Given the description of an element on the screen output the (x, y) to click on. 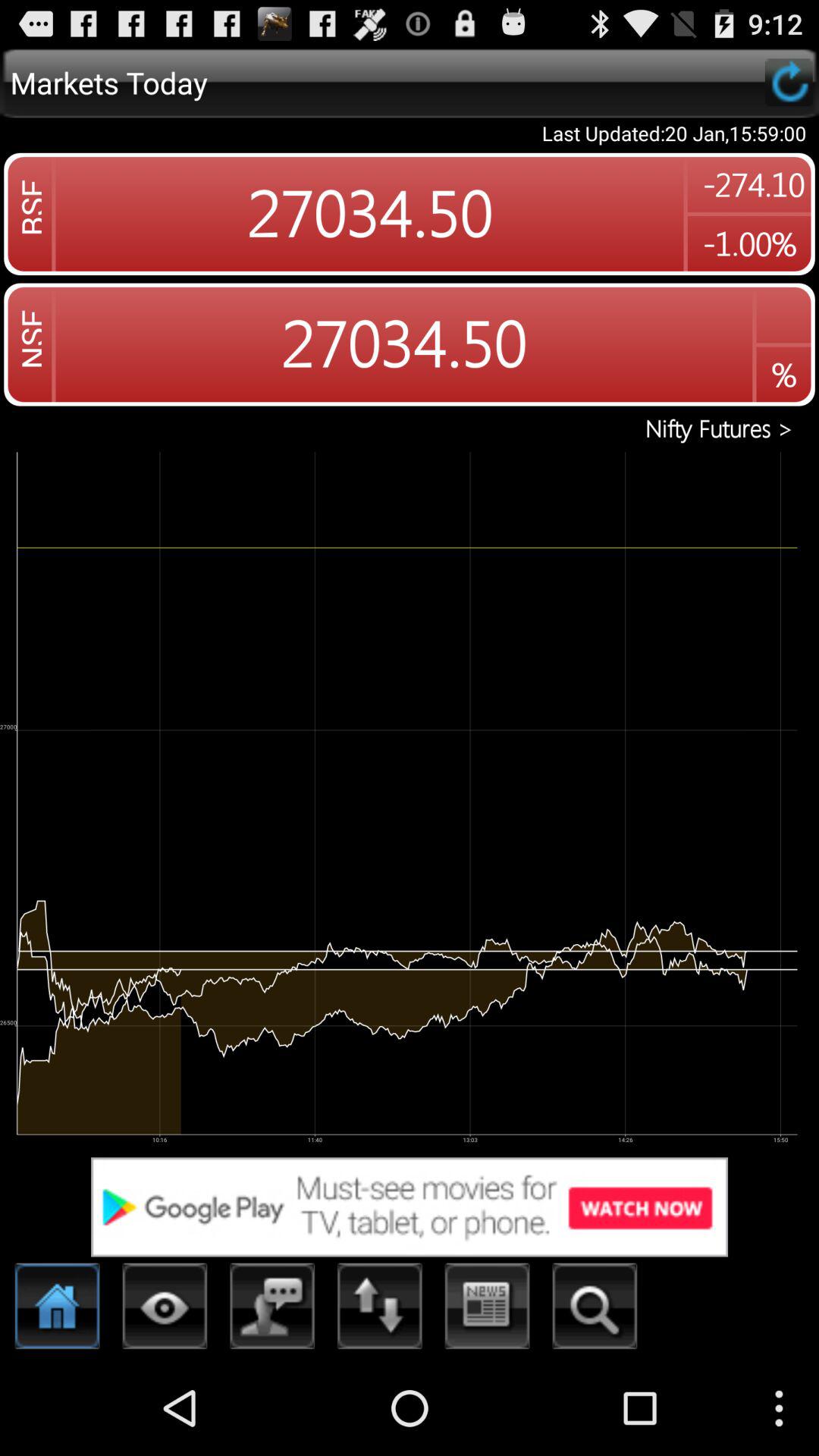
search the required topic (594, 1310)
